Given the description of an element on the screen output the (x, y) to click on. 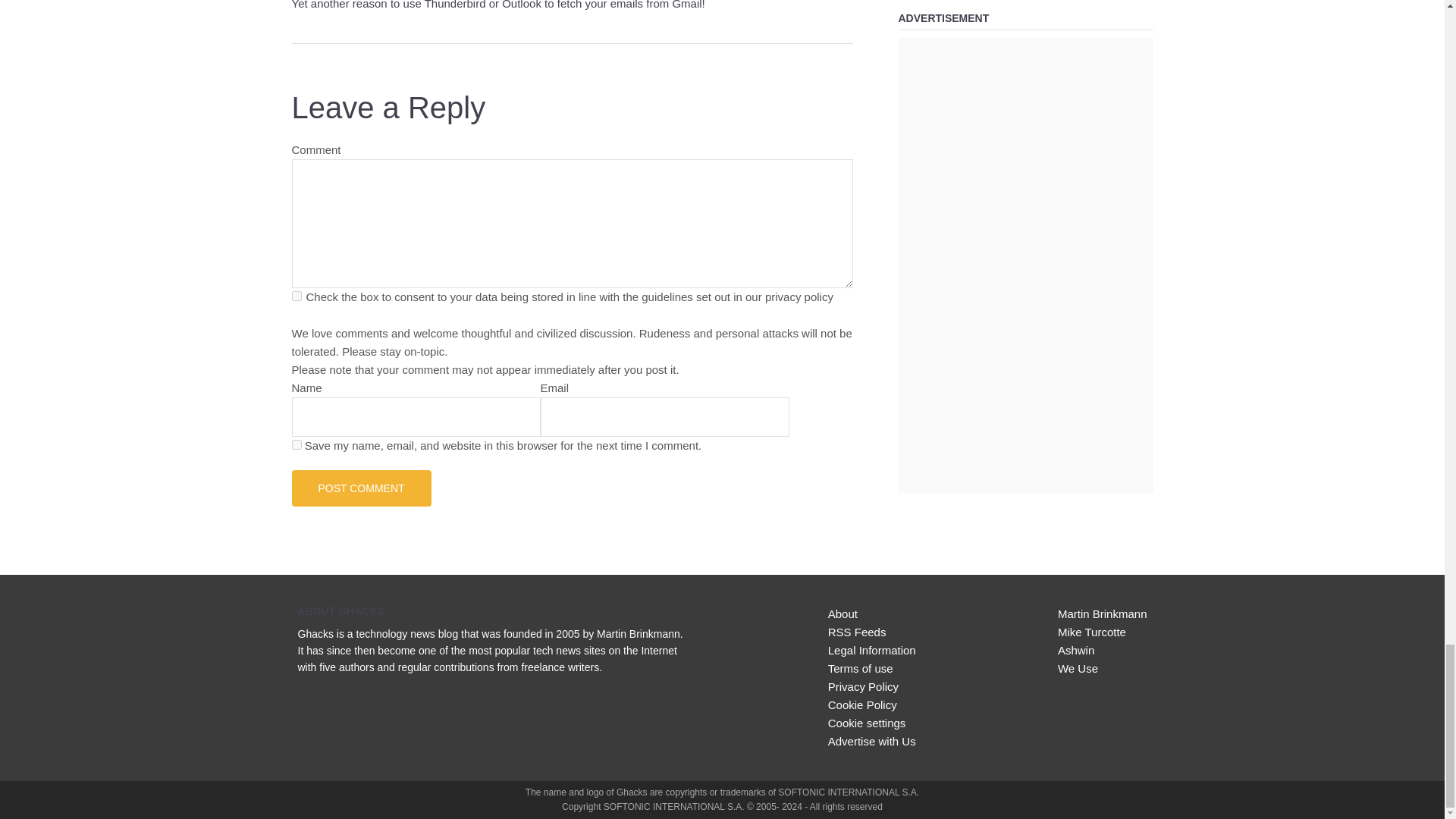
Post Comment (360, 488)
privacy-key (296, 296)
yes (296, 444)
